Given the description of an element on the screen output the (x, y) to click on. 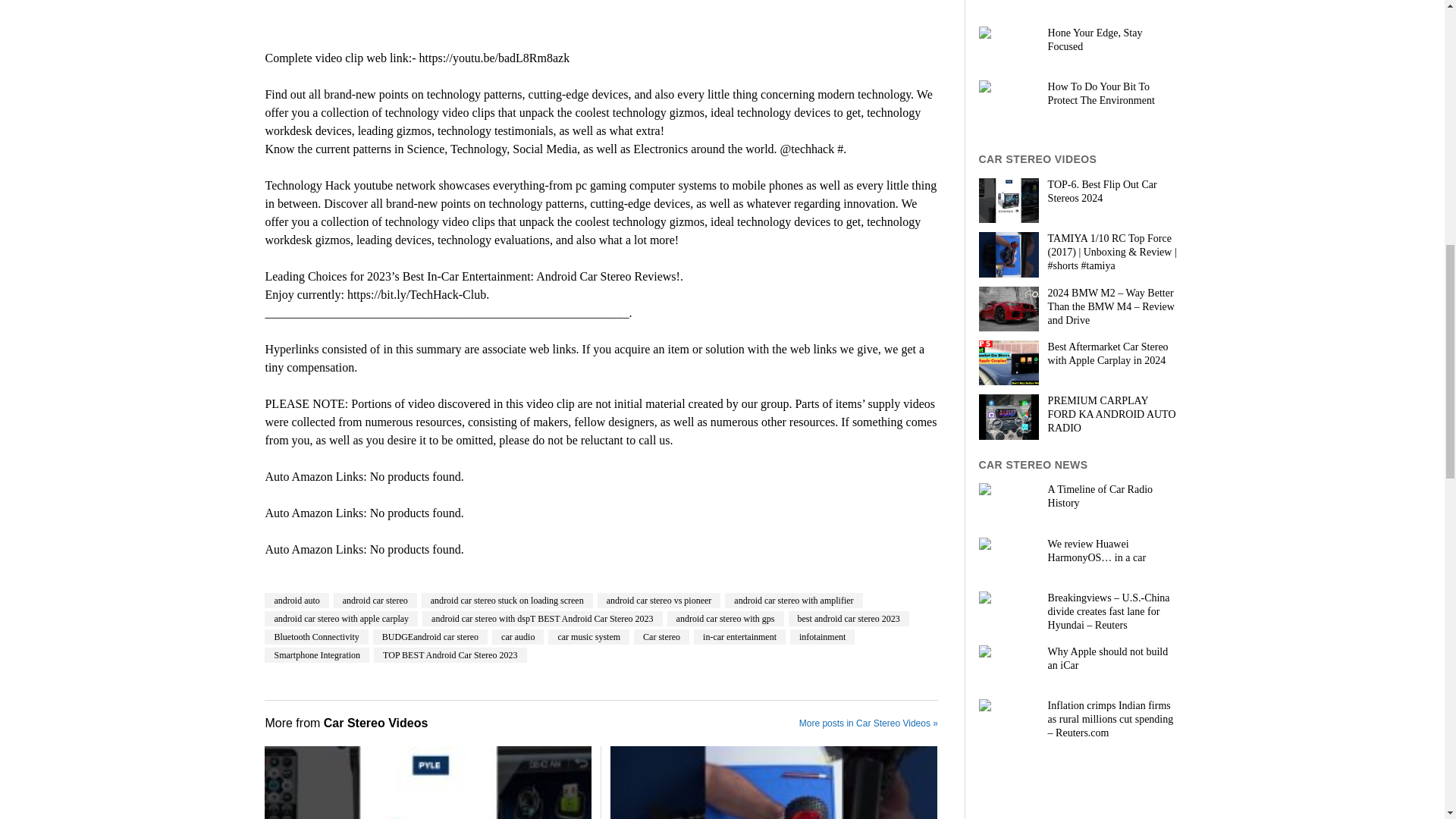
android car stereo (374, 600)
car audio (517, 636)
View all posts tagged BUDGEandroid car stereo (429, 636)
View all posts tagged Smartphone Integration (316, 654)
View all posts tagged android auto (296, 600)
BUDGEandroid car stereo (429, 636)
android car stereo vs pioneer (658, 600)
car music system (588, 636)
View all posts tagged infotainment (822, 636)
View all posts tagged car audio (517, 636)
View all posts tagged android car stereo vs pioneer (658, 600)
View all posts tagged android car stereo with apple carplay (340, 618)
View all posts tagged android car stereo with amplifier (793, 600)
View all posts tagged Car stereo (660, 636)
android car stereo with gps (725, 618)
